Given the description of an element on the screen output the (x, y) to click on. 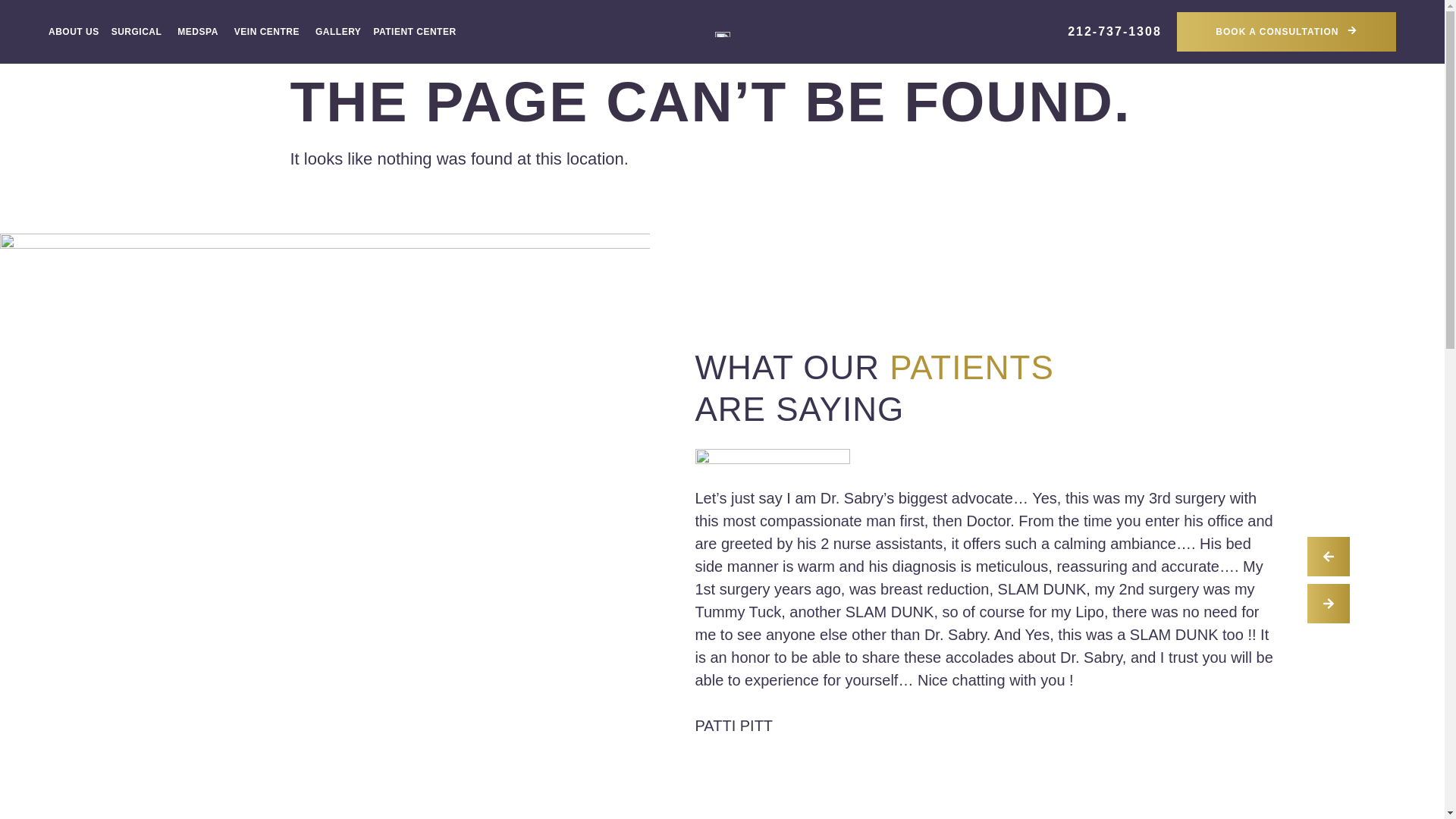
ABOUT US (73, 31)
